Given the description of an element on the screen output the (x, y) to click on. 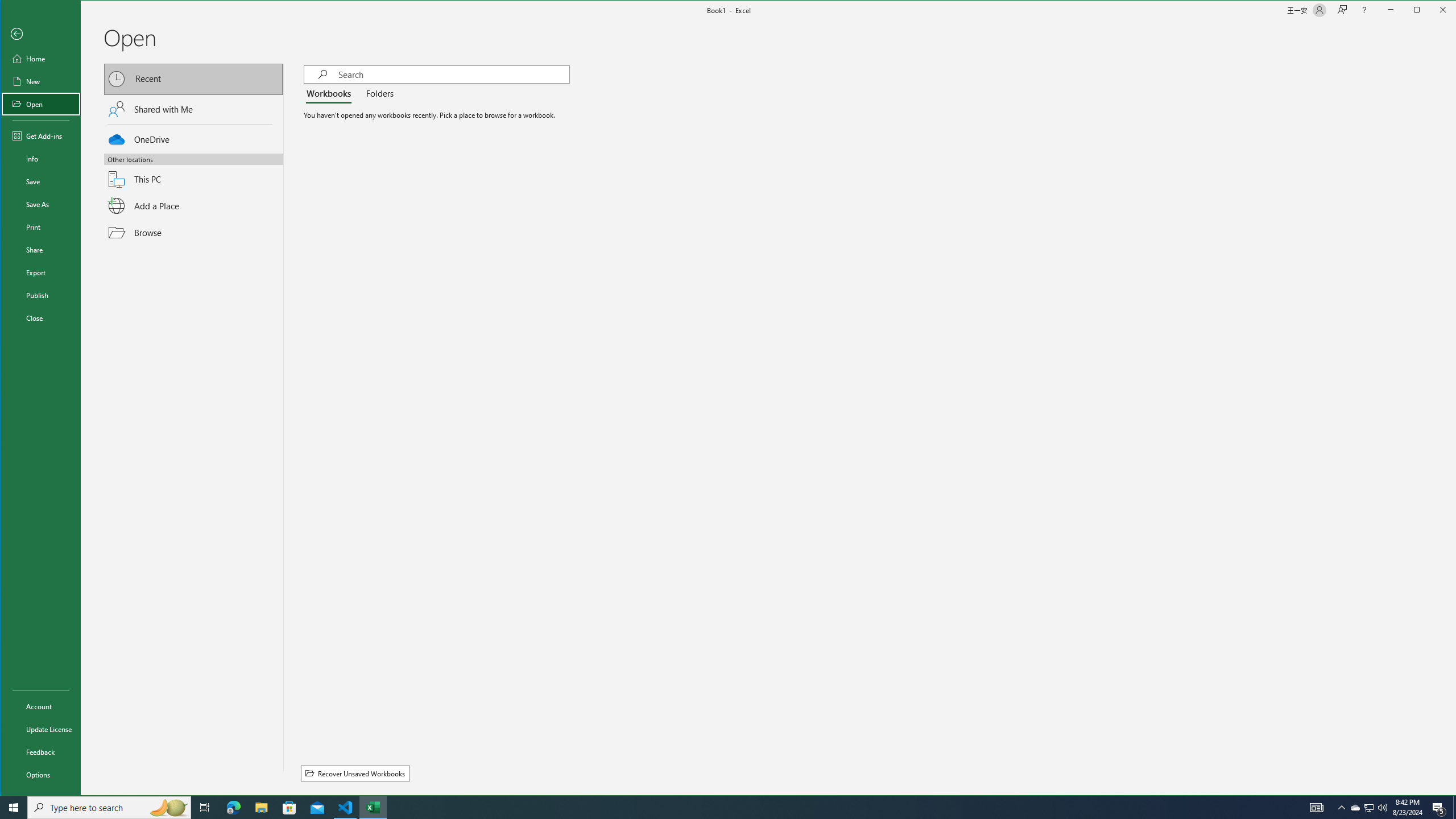
Show desktop (1454, 807)
Feedback (40, 751)
Browse (193, 232)
Microsoft Store (289, 807)
Account (40, 706)
Folders (377, 94)
Search highlights icon opens search home window (167, 807)
OneDrive (193, 137)
Export (40, 272)
